Given the description of an element on the screen output the (x, y) to click on. 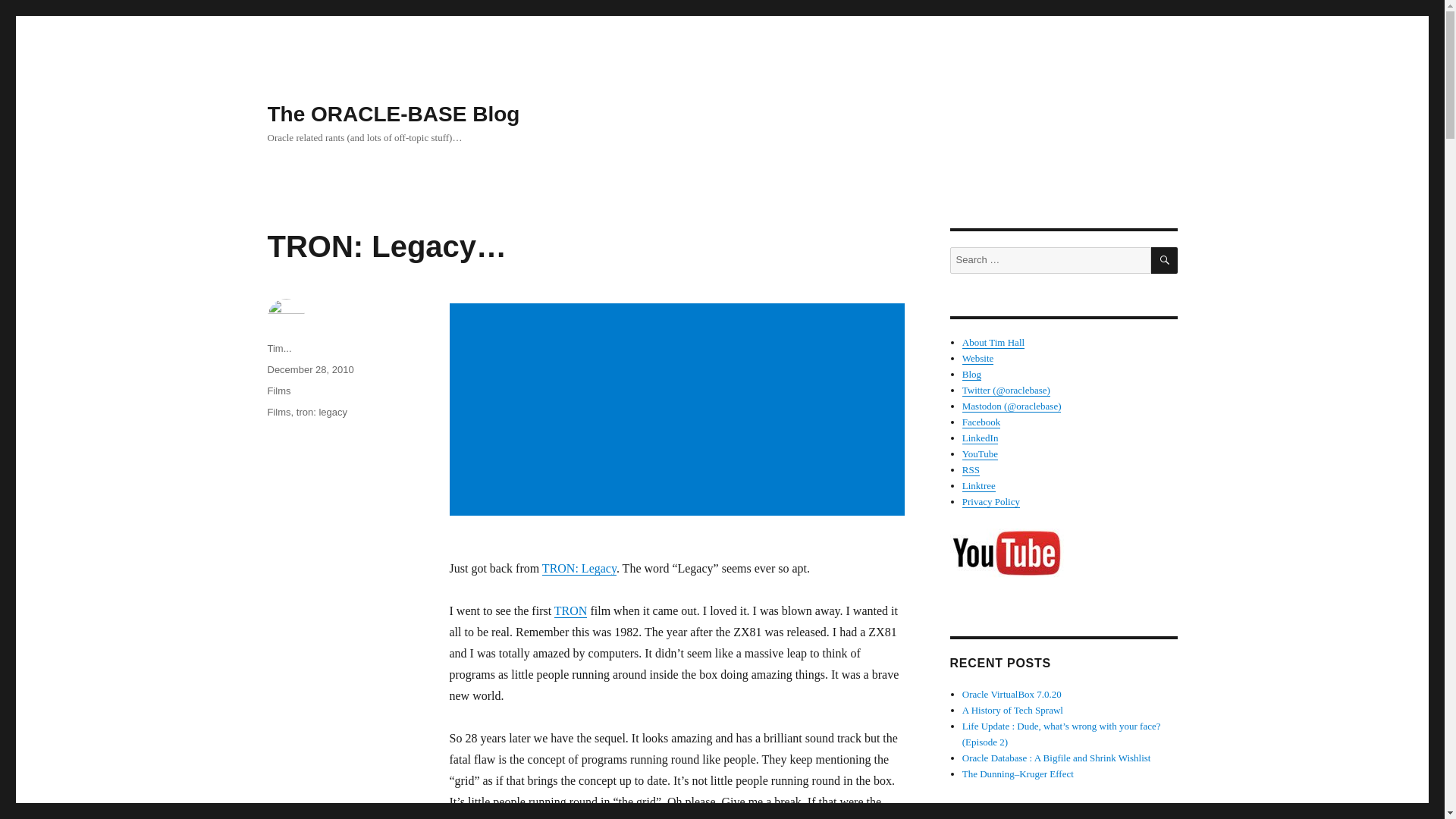
Privacy Policy (991, 501)
About Tim Hall (993, 342)
Oracle VirtualBox 7.0.20 (1011, 694)
Facebook (981, 421)
Website (978, 357)
Films (277, 390)
Oracle Database : A Bigfile and Shrink Wishlist (1056, 757)
RSS (970, 469)
LinkedIn (980, 437)
Tim... (278, 348)
Blog (971, 374)
TRON (571, 610)
SEARCH (1164, 260)
YouTube (979, 453)
tron: legacy (322, 411)
